Given the description of an element on the screen output the (x, y) to click on. 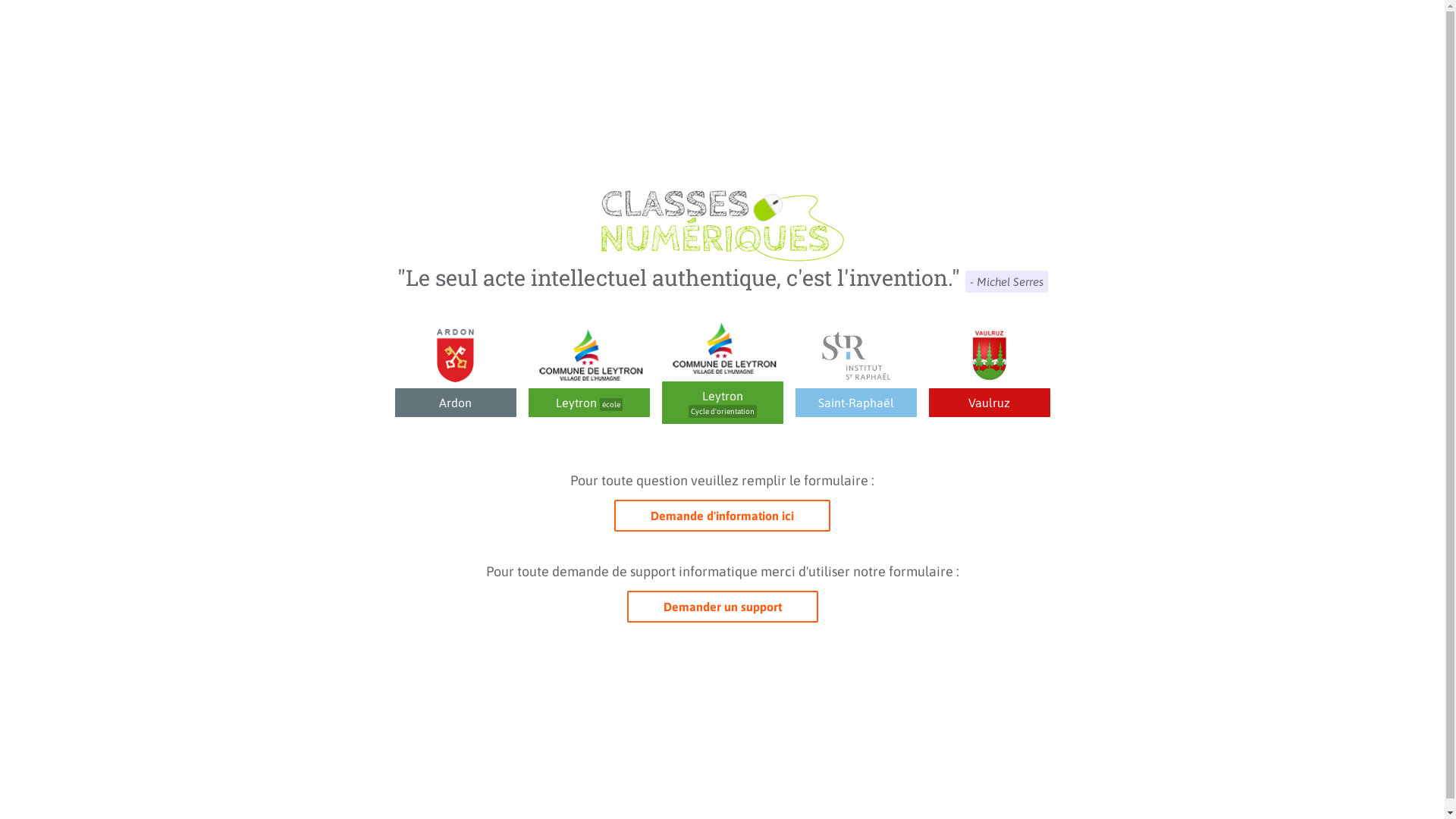
Leytron Cycle d'orientation Element type: text (722, 402)
Demande d'information ici Element type: text (722, 515)
Demander un support Element type: text (721, 606)
Ardon Element type: text (455, 402)
Vaulruz Element type: text (989, 402)
